Given the description of an element on the screen output the (x, y) to click on. 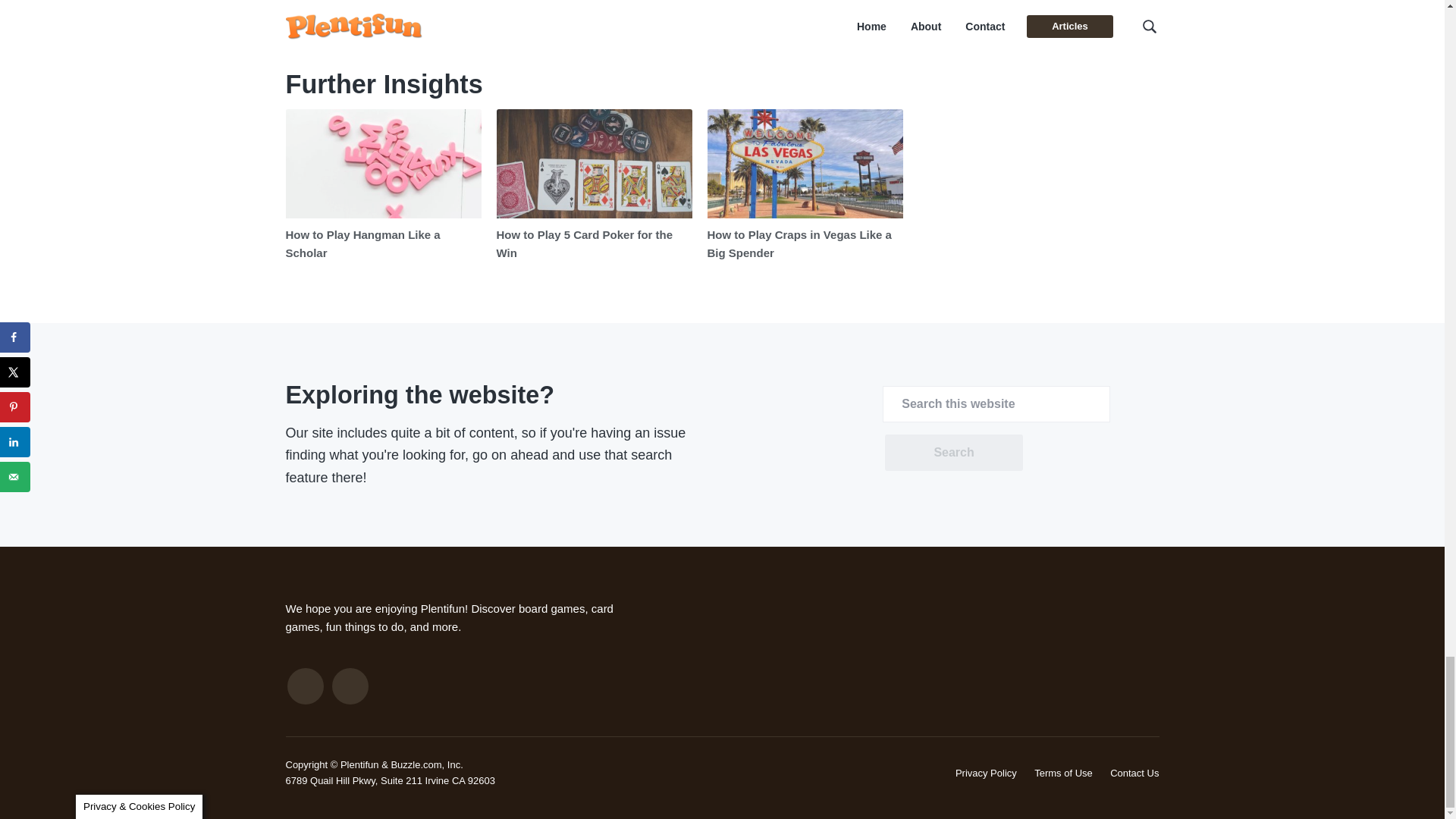
Search (953, 452)
How to Play Hangman Like a Scholar (362, 243)
Permanent Link to How to Play Hangman Like a Scholar (382, 162)
Permanent Link to How to Play Hangman Like a Scholar (362, 243)
Search (953, 452)
Permanent Link to How to Play 5 Card Poker for the Win (593, 162)
Permanent Link to How to Play 5 Card Poker for the Win (584, 243)
